Given the description of an element on the screen output the (x, y) to click on. 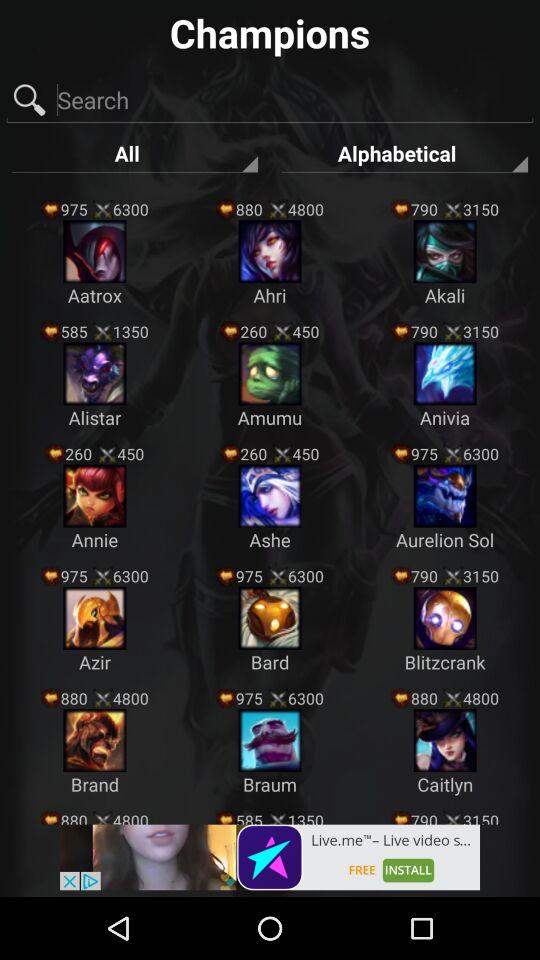
open advertisement (270, 857)
